Given the description of an element on the screen output the (x, y) to click on. 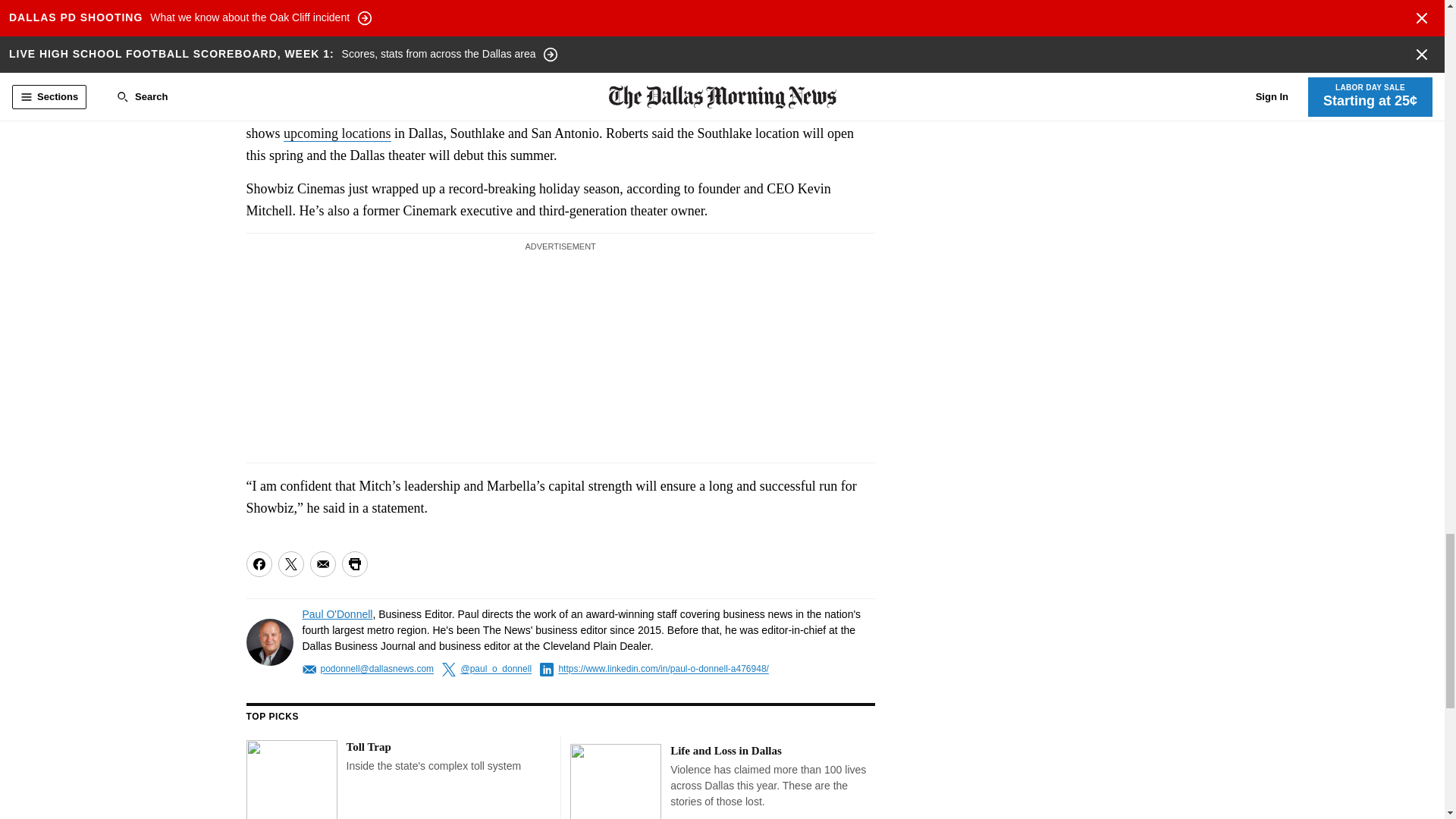
Share on Facebook (258, 564)
Print (353, 564)
Share via Email (321, 564)
Share on Twitter (290, 564)
